Given the description of an element on the screen output the (x, y) to click on. 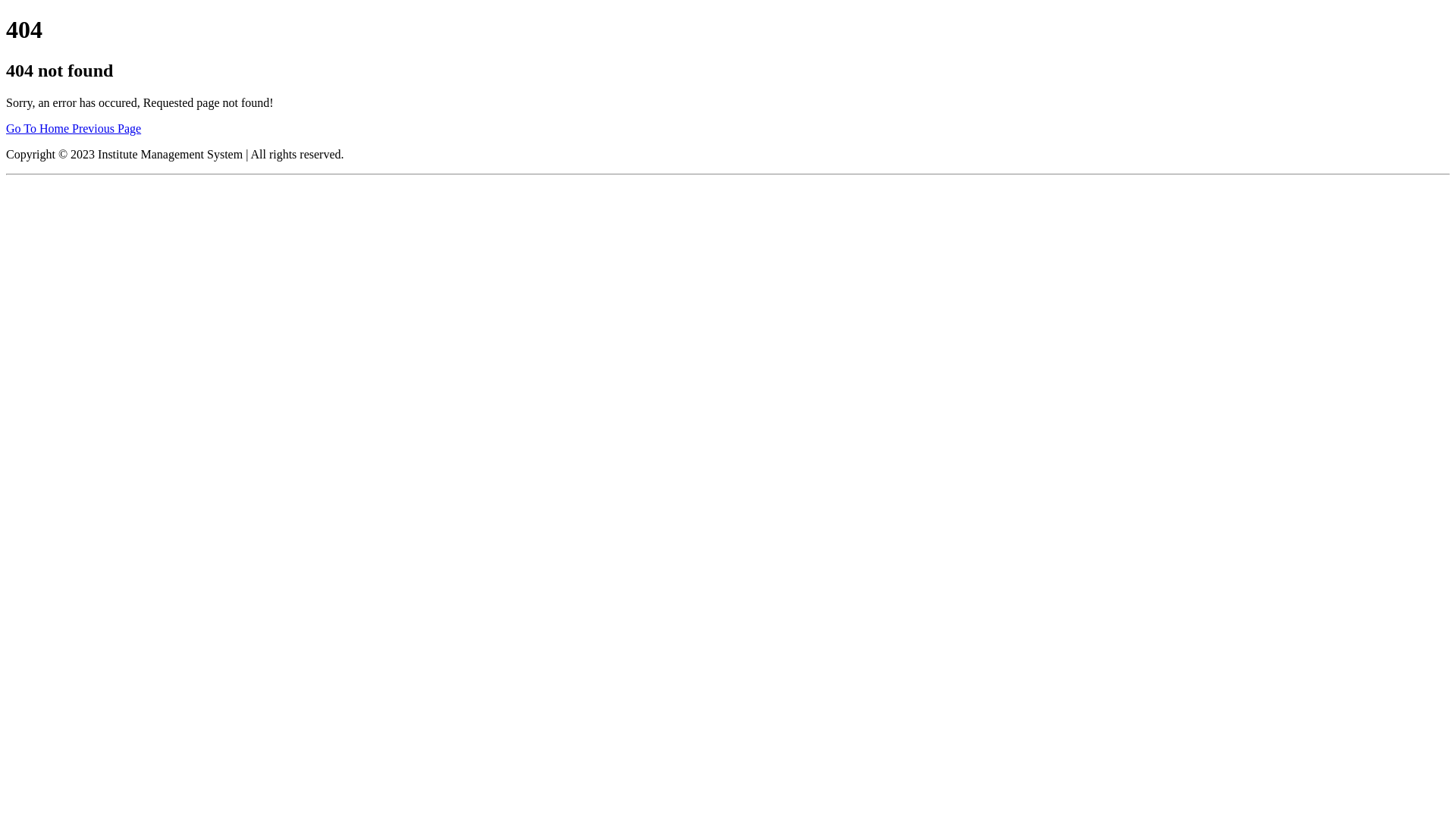
Go To Home Element type: text (39, 128)
Previous Page Element type: text (106, 128)
